Given the description of an element on the screen output the (x, y) to click on. 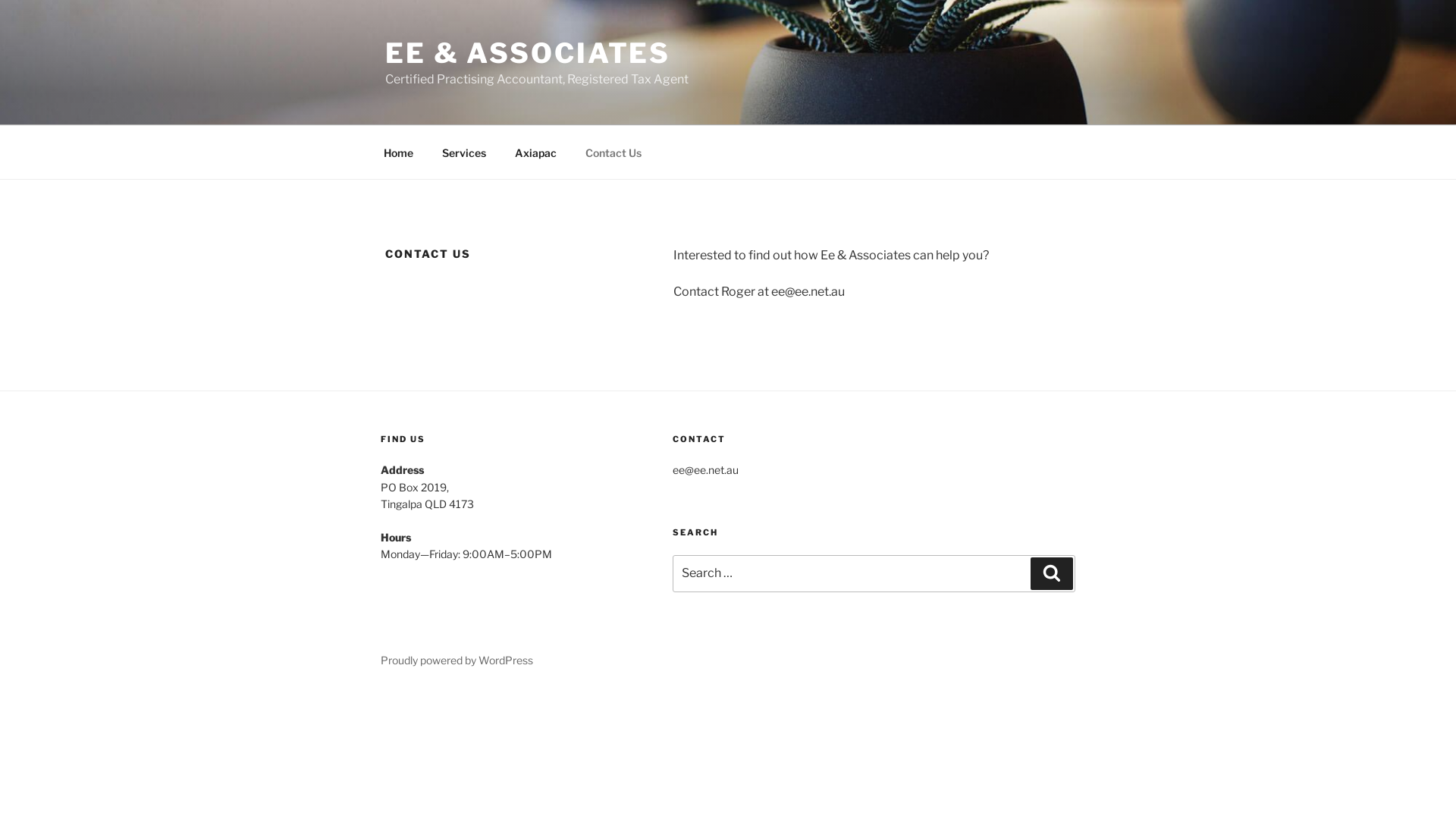
Services Element type: text (463, 151)
EE & ASSOCIATES Element type: text (527, 52)
Home Element type: text (398, 151)
Axiapac Element type: text (535, 151)
Proudly powered by WordPress Element type: text (456, 659)
Contact Us Element type: text (612, 151)
Search Element type: text (1051, 573)
